Given the description of an element on the screen output the (x, y) to click on. 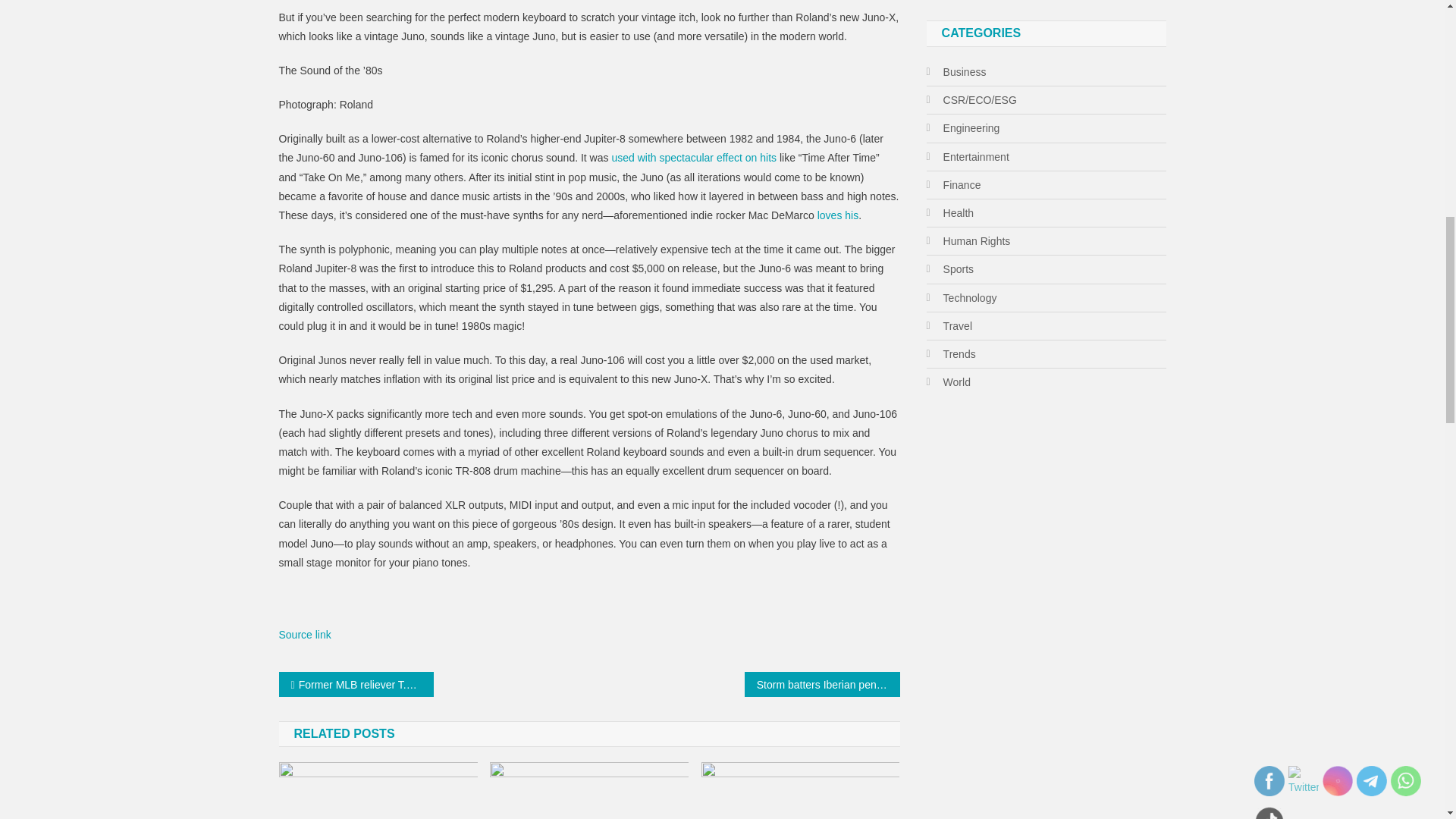
used with spectacular effect on hits (693, 157)
WhatsApp (1405, 780)
Storm batters Iberian peninsula, causes damage in Lisbon (821, 683)
Source link (305, 634)
Facebook (1268, 780)
Telegram (1371, 780)
Twitter (1303, 780)
Instagram (1337, 780)
loves his (837, 215)
